Given the description of an element on the screen output the (x, y) to click on. 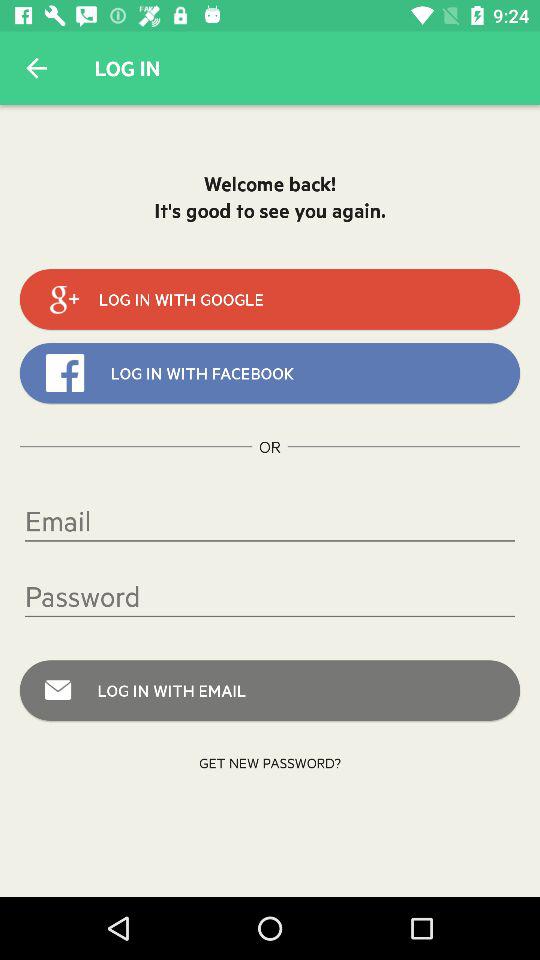
press the get new password? item (270, 762)
